Given the description of an element on the screen output the (x, y) to click on. 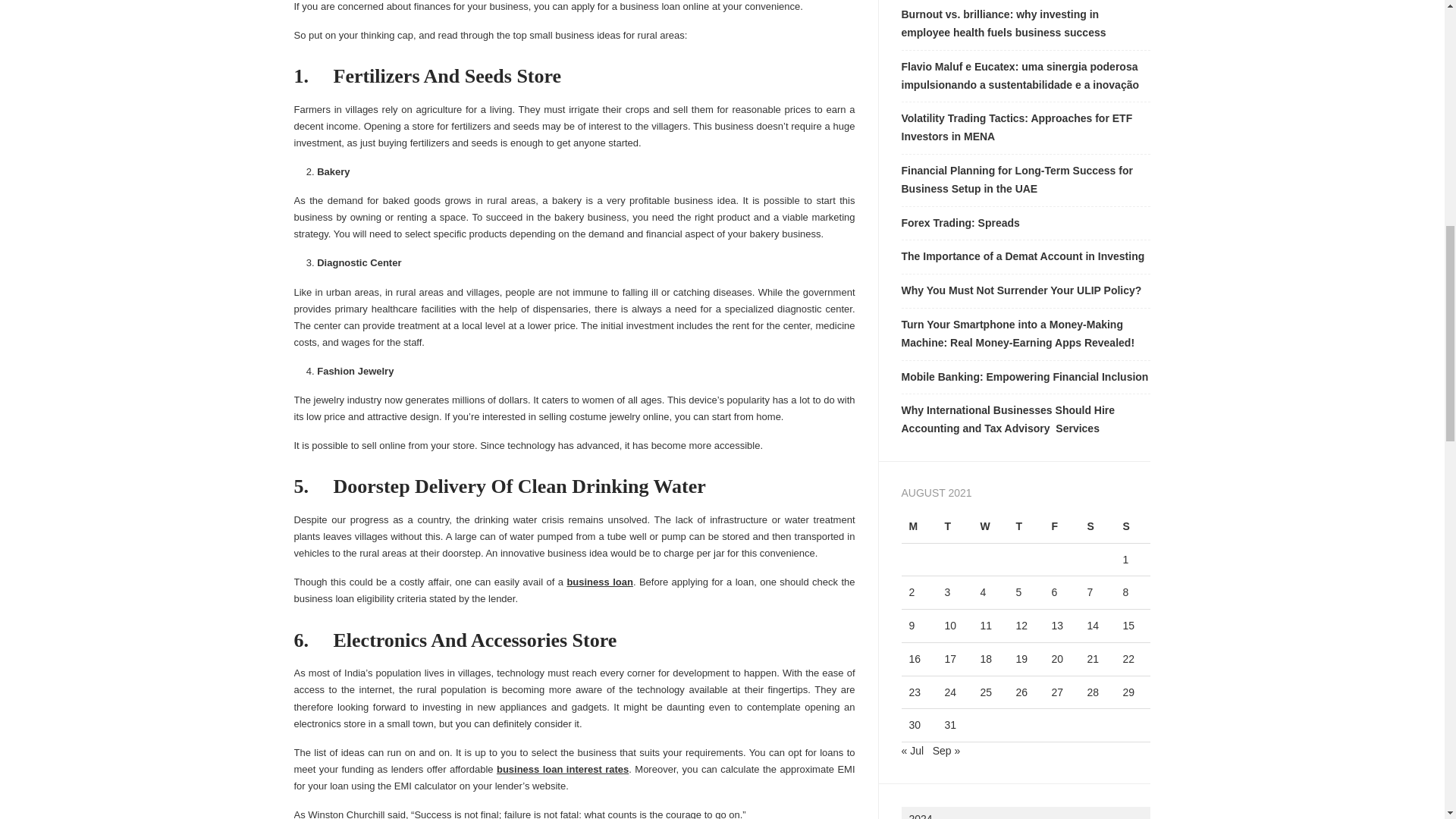
Sunday (1132, 526)
Saturday (1096, 526)
Tuesday (954, 526)
Monday (918, 526)
Friday (1060, 526)
Thursday (1025, 526)
Wednesday (989, 526)
business loan (599, 582)
business loan interest rates (562, 768)
